Given the description of an element on the screen output the (x, y) to click on. 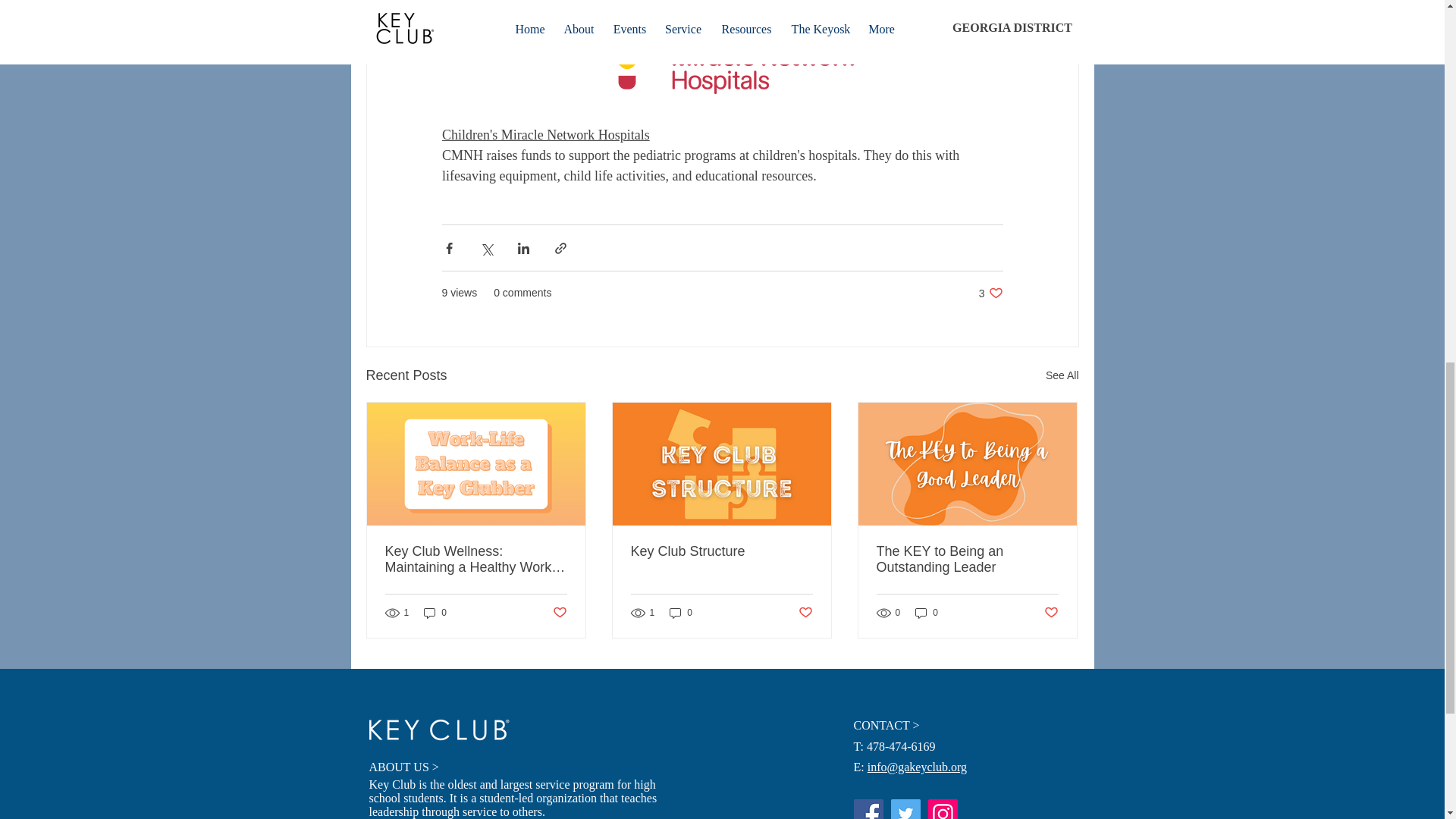
0 (435, 612)
Key Club Wellness: Maintaining a Healthy Work-Life Balance (476, 559)
See All (990, 292)
